Given the description of an element on the screen output the (x, y) to click on. 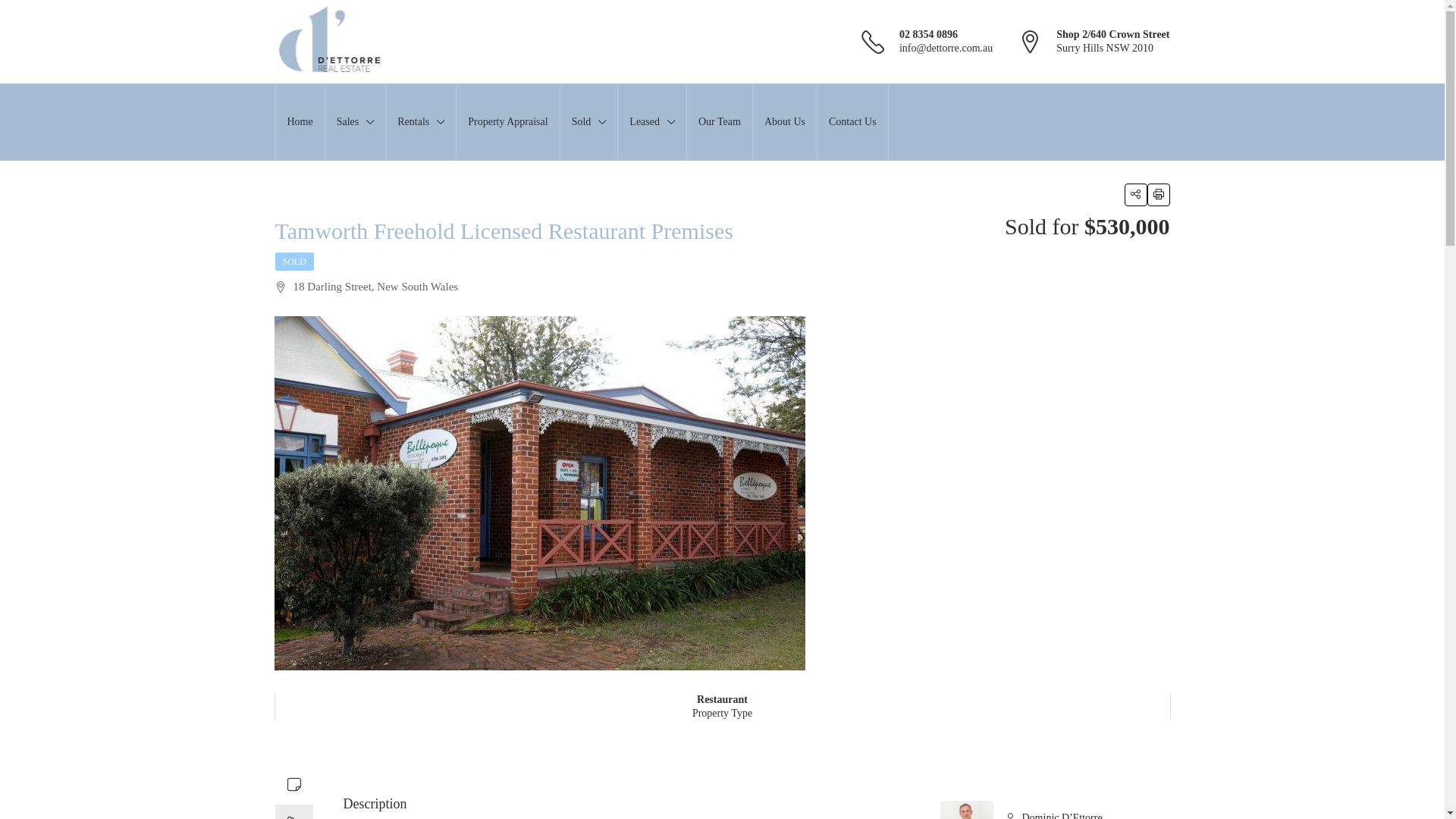
SOLD Element type: text (293, 261)
Sales Element type: text (355, 122)
Property Appraisal Element type: text (507, 122)
About Us Element type: text (784, 122)
02 8354 0896 Element type: text (928, 34)
Leased Element type: text (652, 122)
Our Team Element type: text (719, 122)
Sold Element type: text (589, 122)
info@dettorre.com.au Element type: text (945, 47)
Home Element type: text (300, 122)
Rentals Element type: text (420, 122)
Contact Us Element type: text (852, 122)
